Given the description of an element on the screen output the (x, y) to click on. 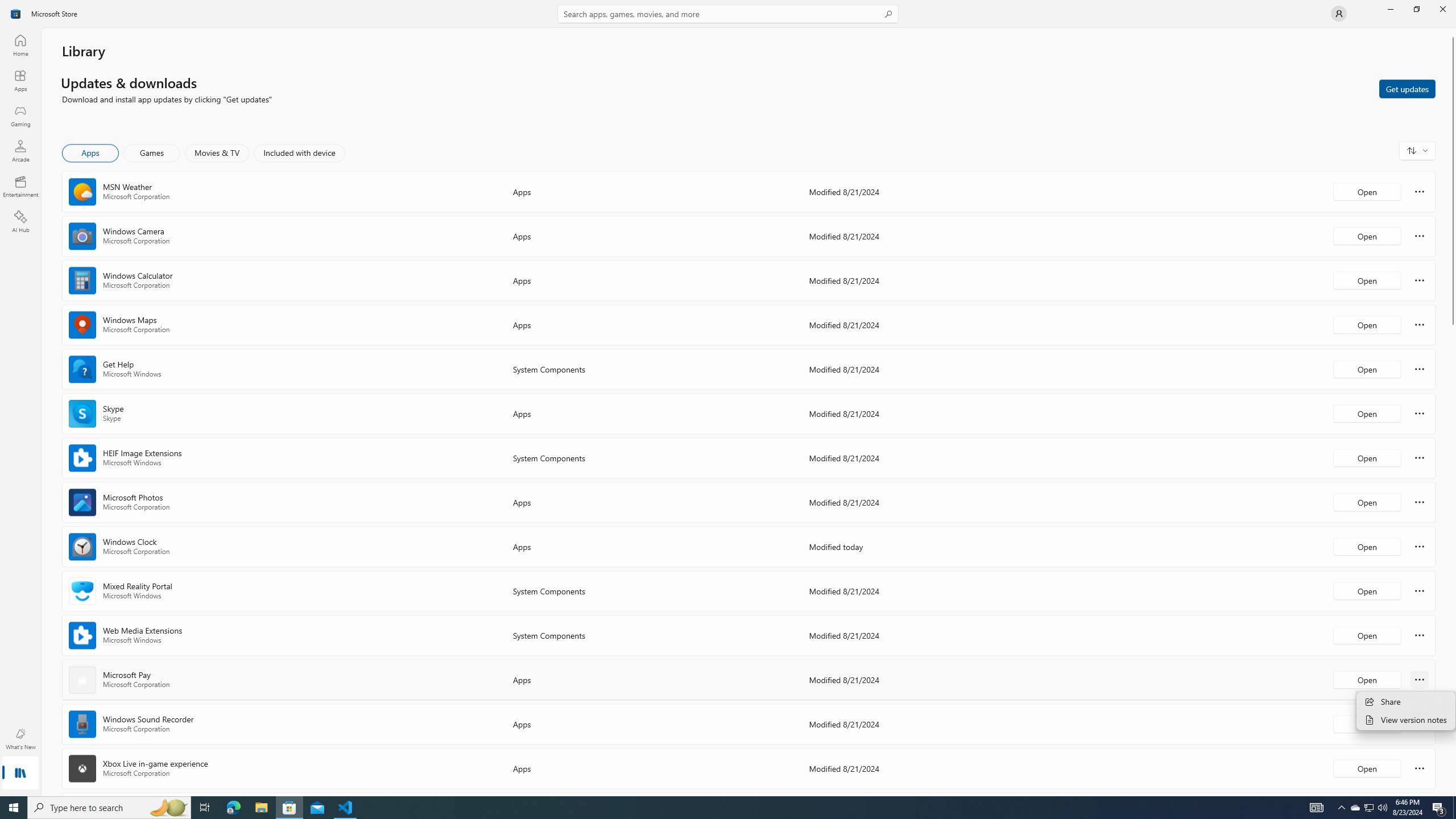
Vertical Large Increase (1452, 557)
More options (1419, 768)
Vertical Small Increase (1452, 792)
Get updates (1406, 88)
Open (1366, 768)
Included with device (299, 153)
Vertical (1452, 412)
